Given the description of an element on the screen output the (x, y) to click on. 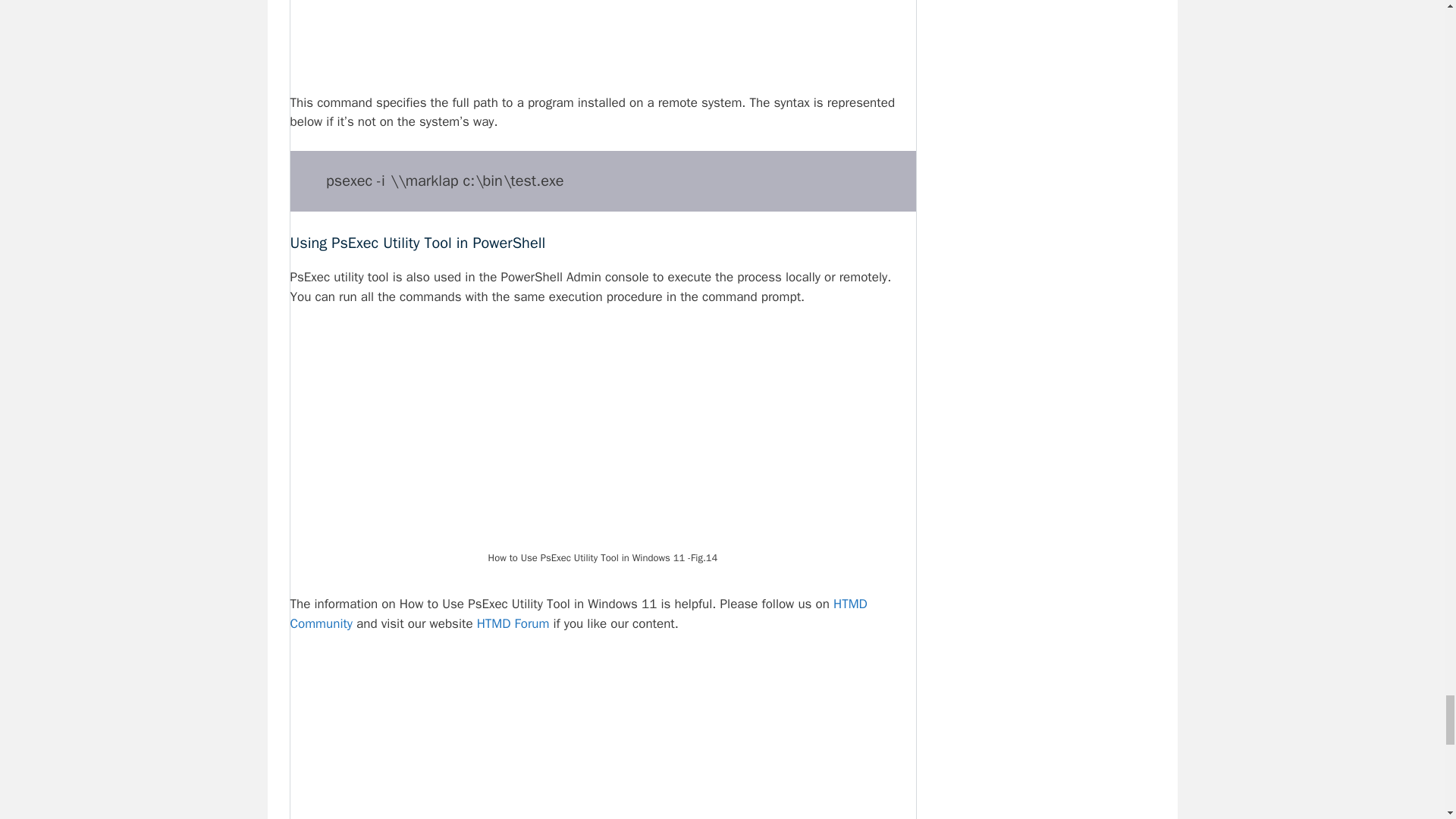
HTMD Forum (513, 623)
HTMD Community (577, 613)
